Given the description of an element on the screen output the (x, y) to click on. 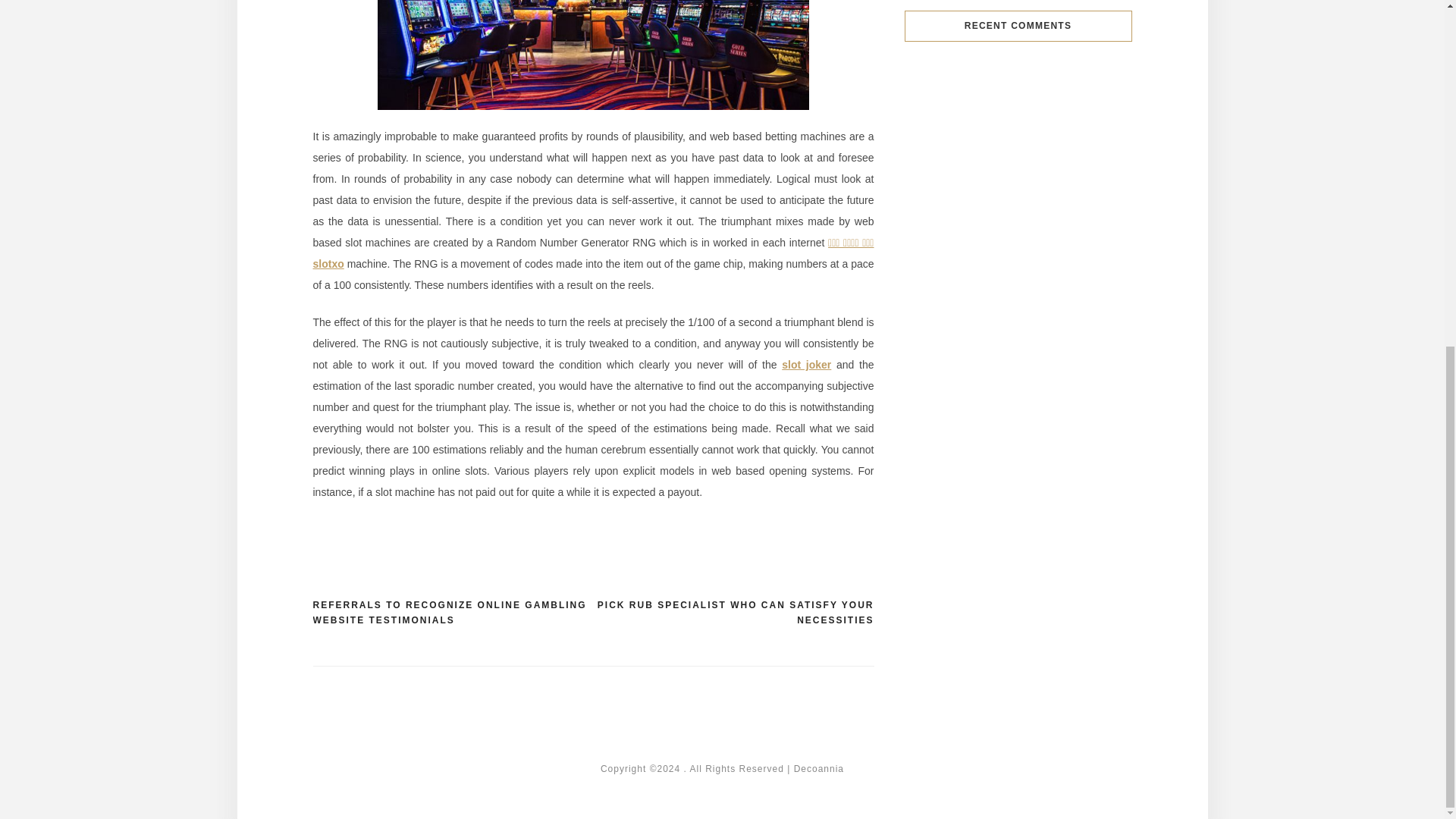
PICK RUB SPECIALIST WHO CAN SATISFY YOUR NECESSITIES (732, 613)
REFERRALS TO RECOGNIZE ONLINE GAMBLING WEBSITE TESTIMONIALS (452, 613)
slot joker (806, 364)
